Given the description of an element on the screen output the (x, y) to click on. 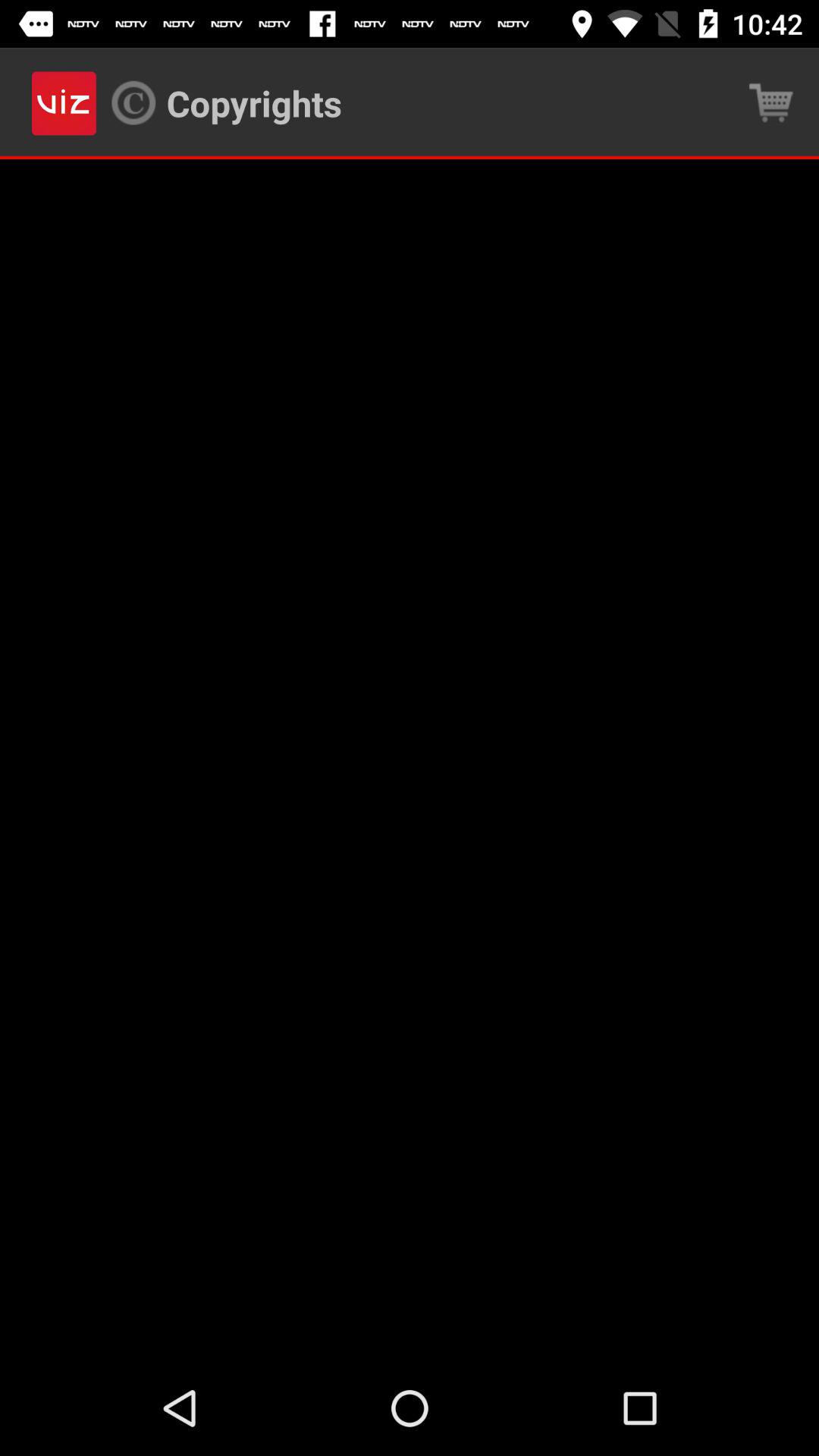
select the icon at the center (409, 759)
